Given the description of an element on the screen output the (x, y) to click on. 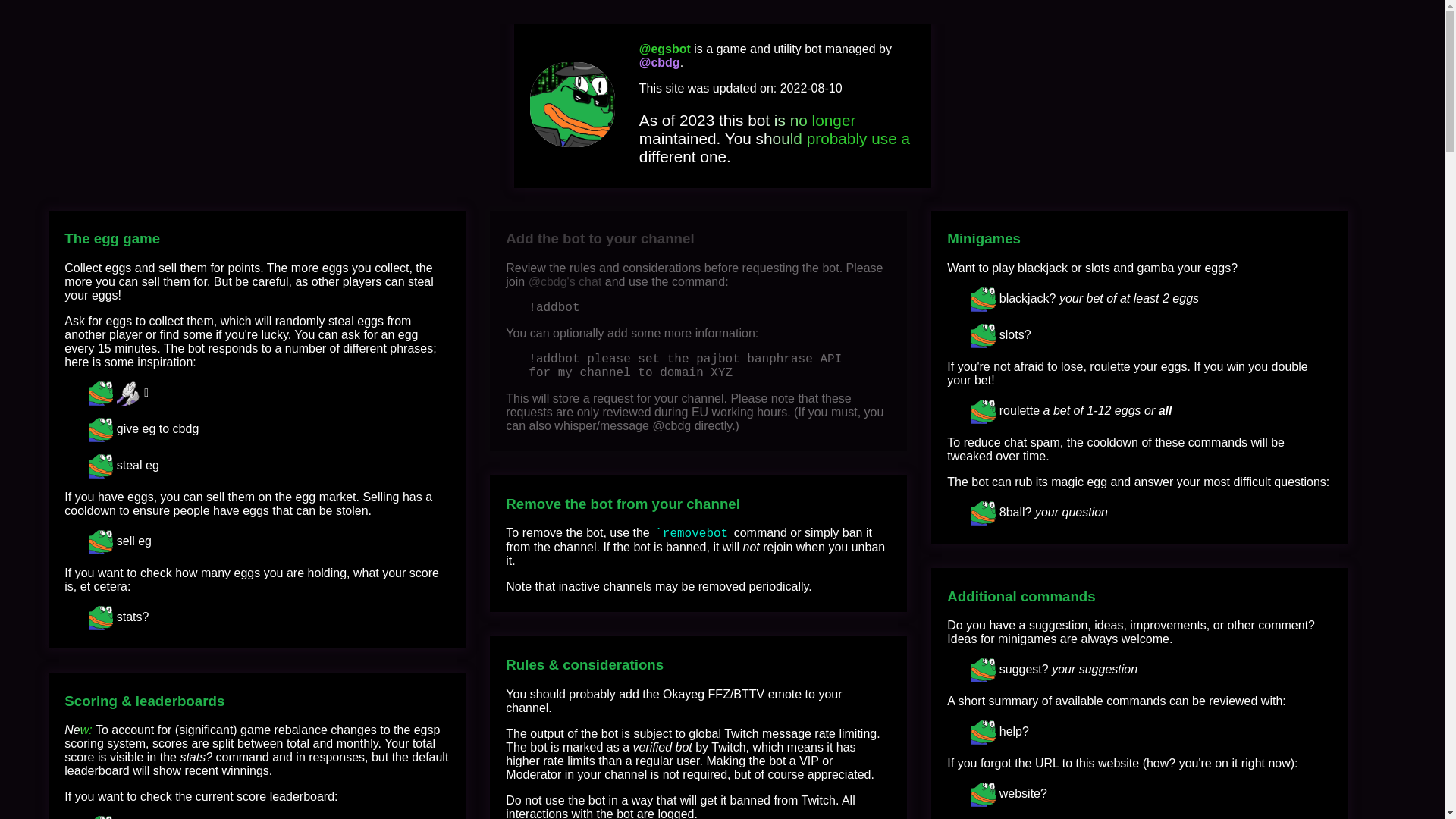
@cbdg Element type: text (659, 62)
@egsbot Element type: text (664, 49)
@cbdg's chat Element type: text (565, 281)
